Given the description of an element on the screen output the (x, y) to click on. 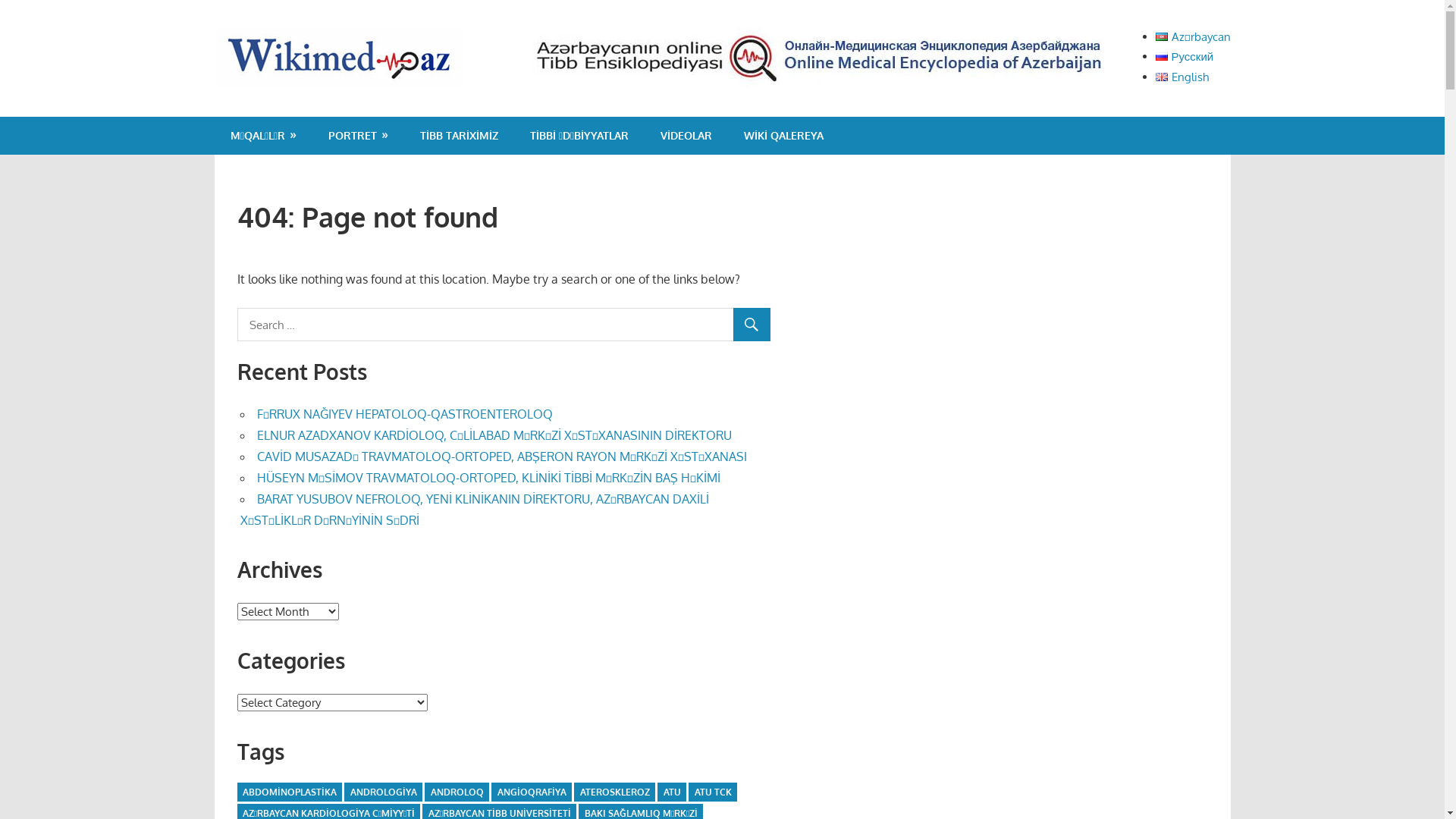
PORTRET Element type: text (358, 135)
ATU TCK Element type: text (712, 791)
English Element type: hover (1161, 76)
ANDROLOQ Element type: text (456, 791)
English Element type: text (1181, 76)
Search for: Element type: hover (503, 324)
ATU Element type: text (671, 791)
ABDOMINOPLASTIKA Element type: text (288, 791)
ATEROSKLEROZ Element type: text (614, 791)
VIDEOLAR Element type: text (686, 135)
WIKI QALEREYA Element type: text (783, 135)
TIBB TARIXIMIZ Element type: text (459, 135)
ANGIOQRAFIYA Element type: text (531, 791)
ANDROLOGIYA Element type: text (382, 791)
